Given the description of an element on the screen output the (x, y) to click on. 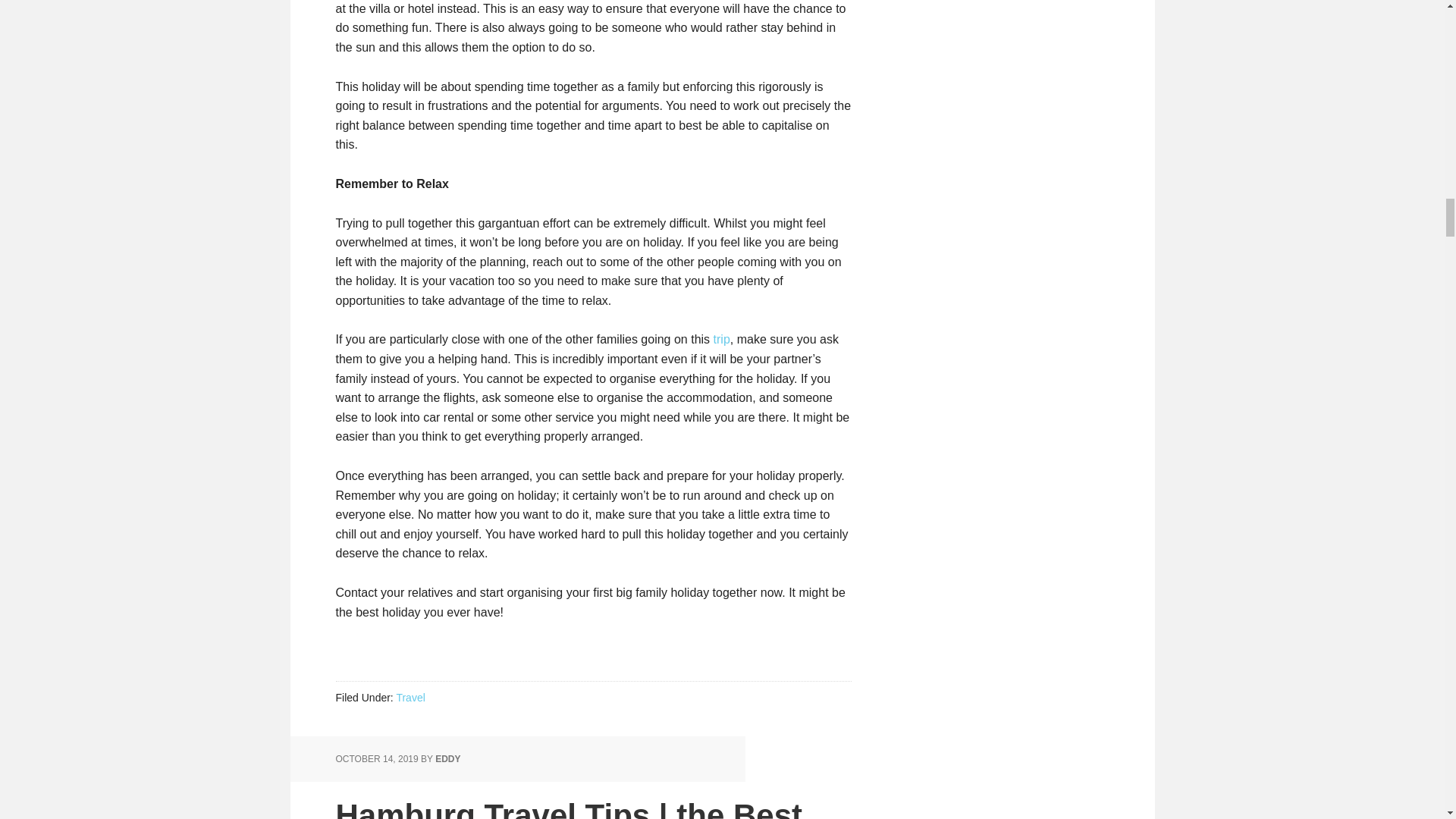
Travel (410, 697)
EDDY (447, 758)
trip (721, 338)
